Given the description of an element on the screen output the (x, y) to click on. 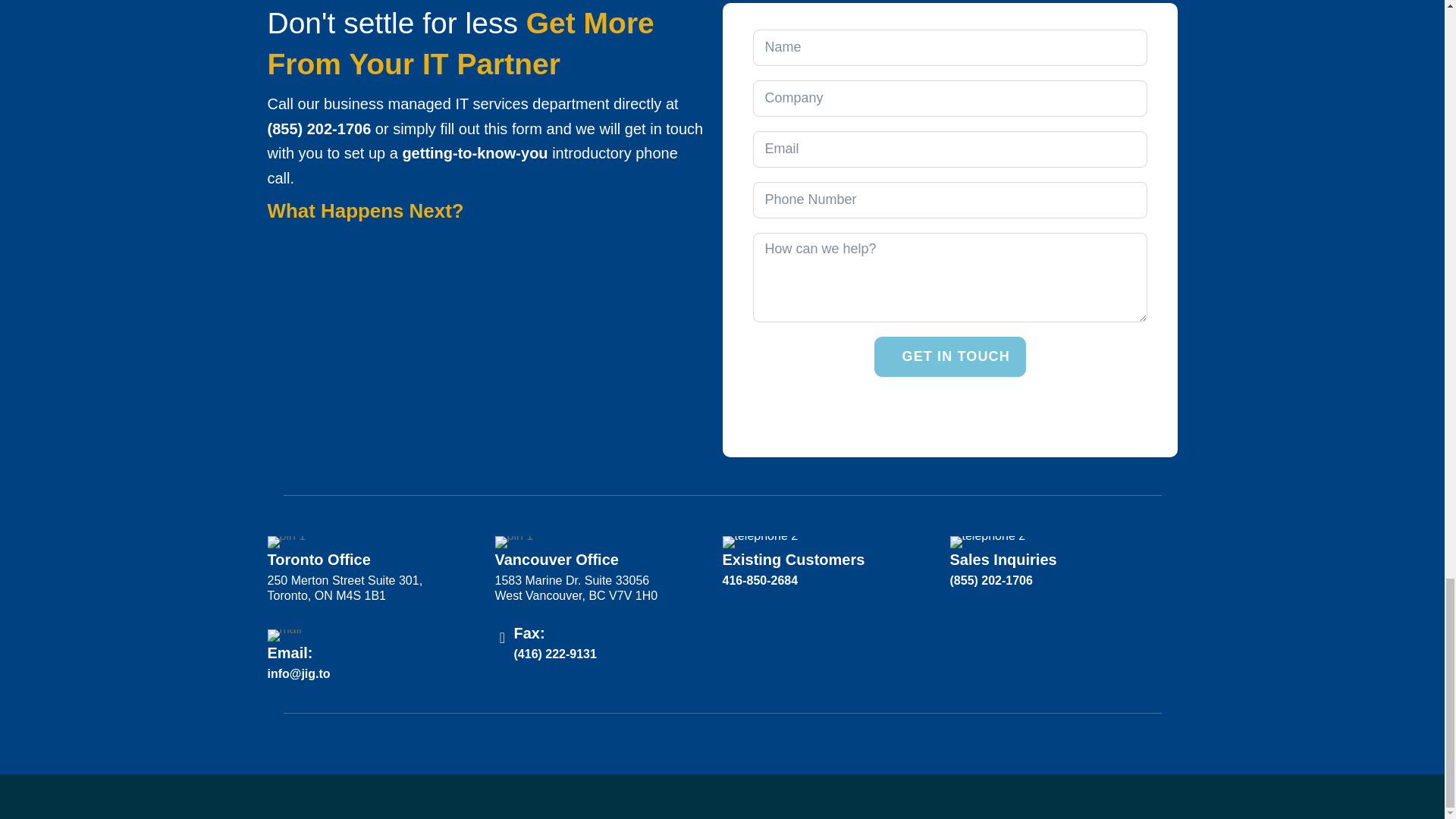
telephone 2 (987, 541)
telephone 2 (759, 541)
pin 1 (285, 541)
pin 1 (513, 541)
GET IN TOUCH (949, 356)
